Given the description of an element on the screen output the (x, y) to click on. 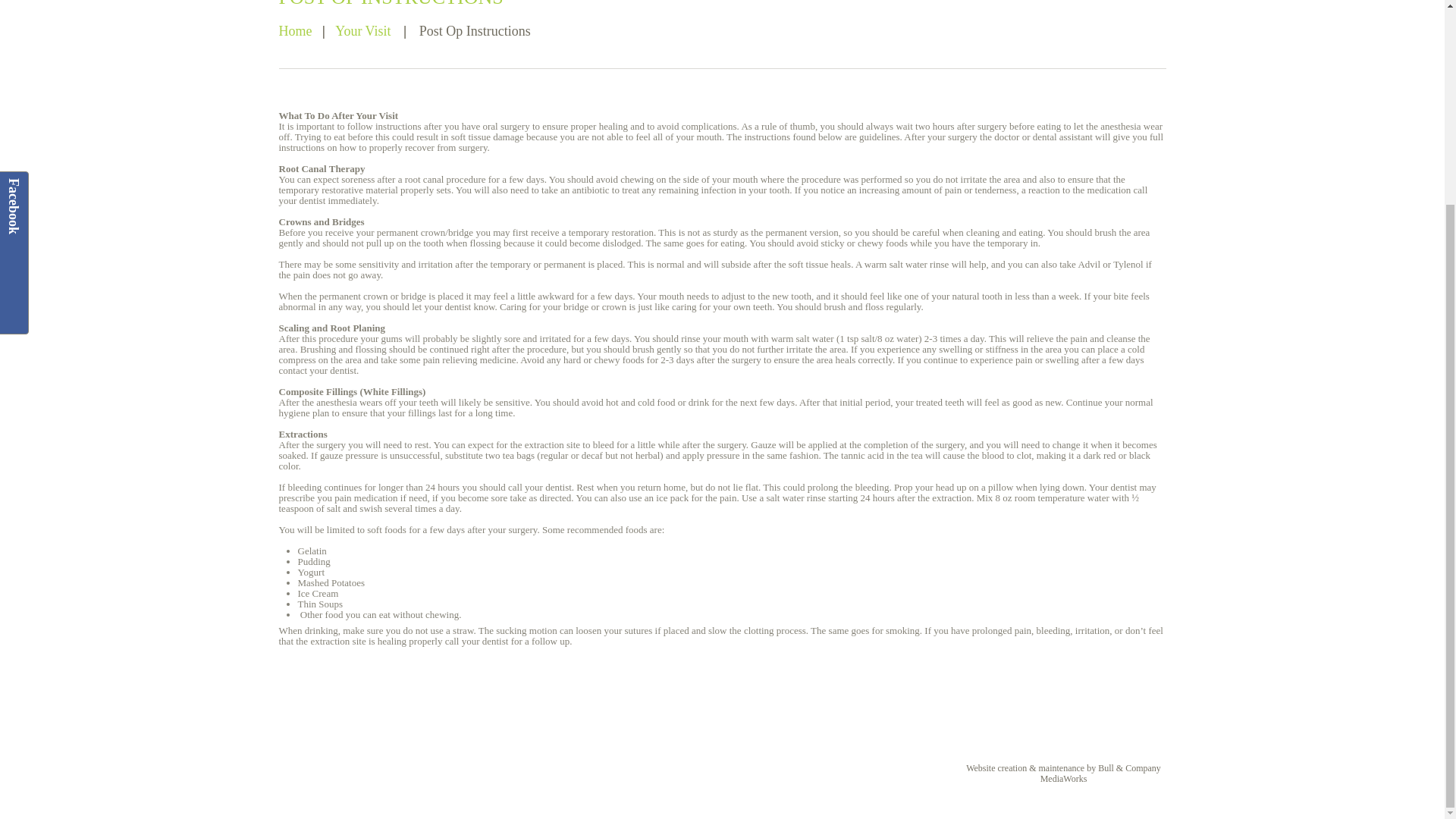
Home (296, 30)
Your Visit (362, 30)
